Given the description of an element on the screen output the (x, y) to click on. 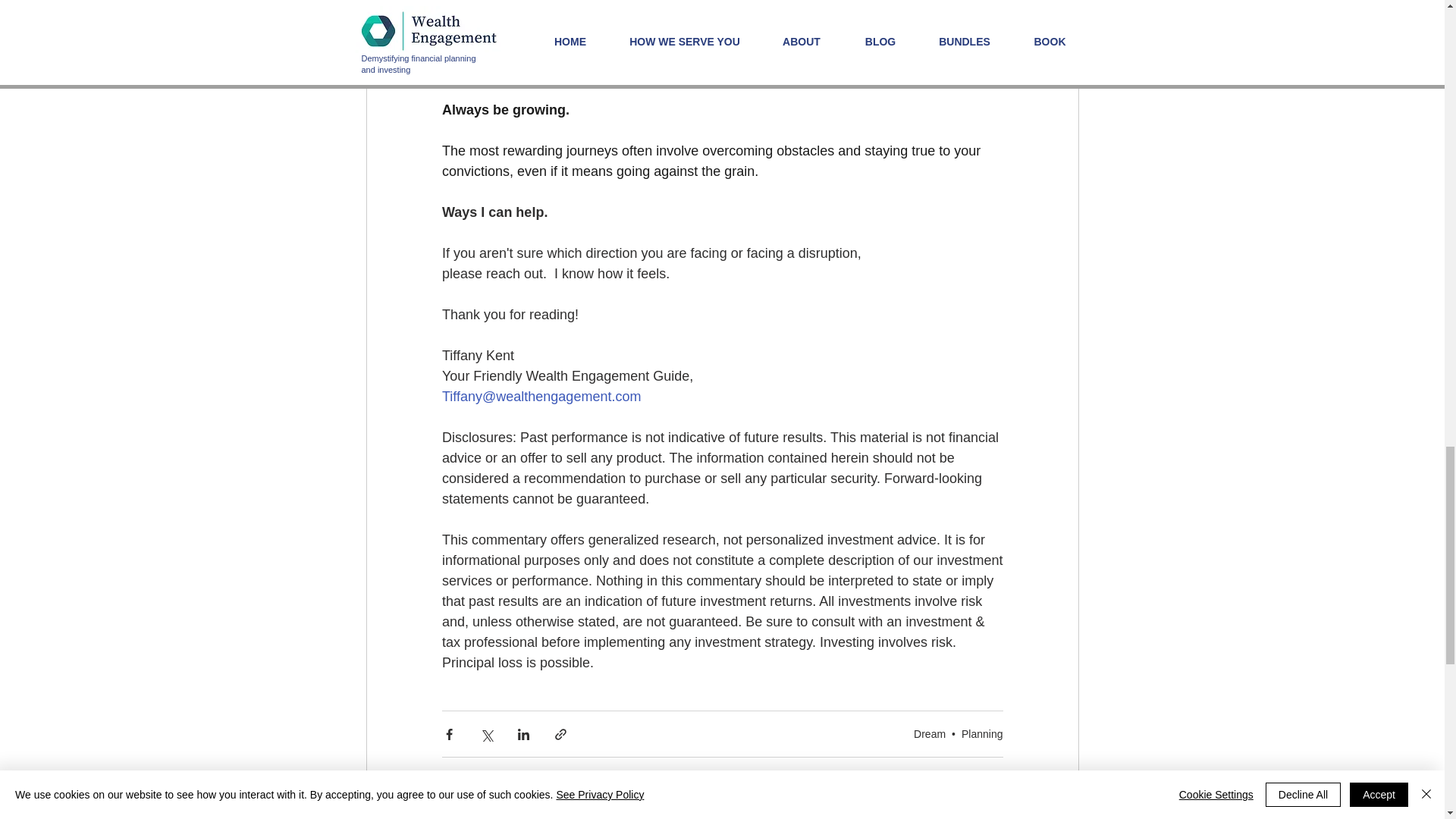
Dream (929, 734)
Planning (981, 734)
Post not marked as liked (995, 779)
